Given the description of an element on the screen output the (x, y) to click on. 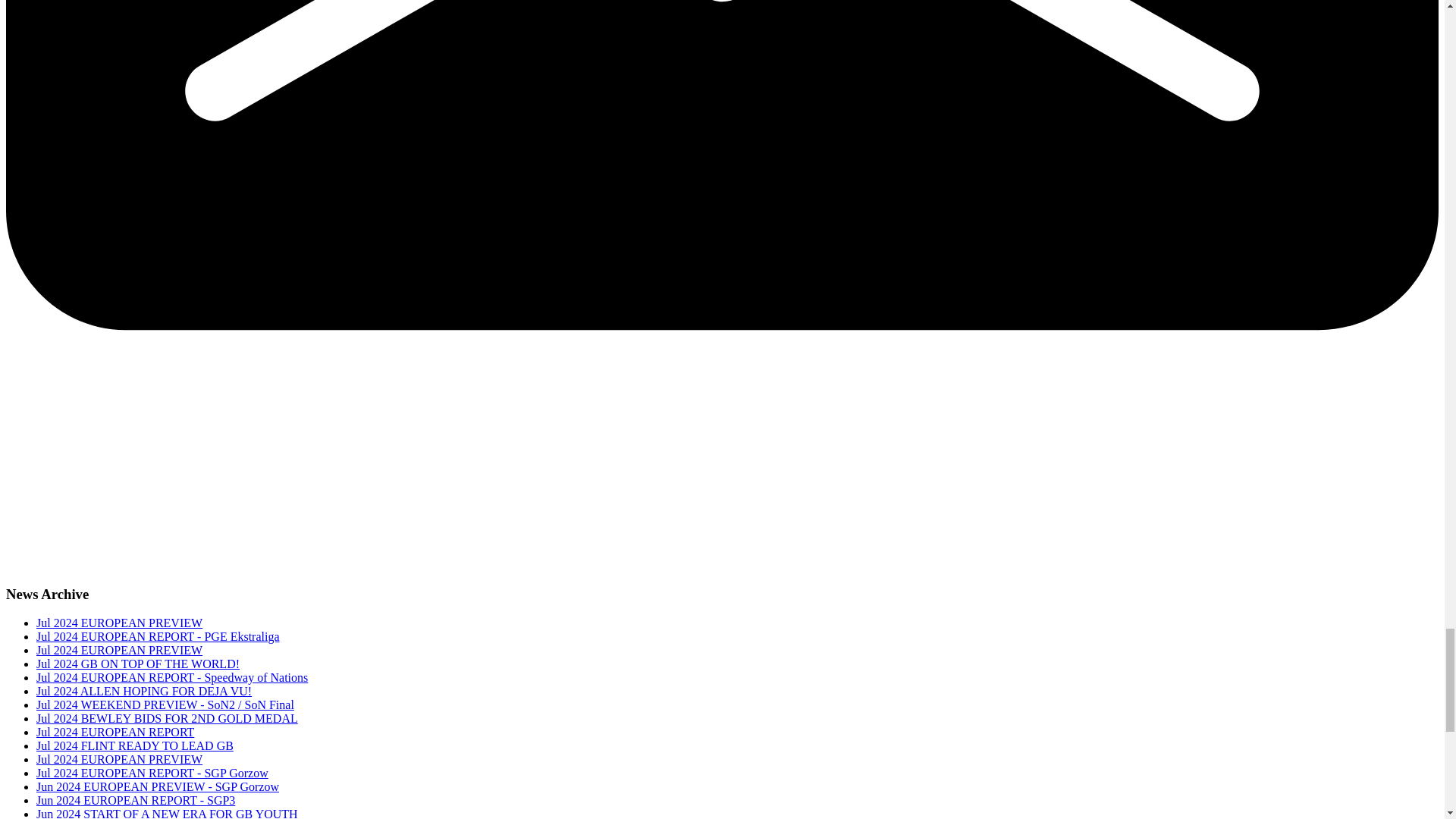
Jul 2024 EUROPEAN PREVIEW (119, 622)
Jun 2024 EUROPEAN PREVIEW - SGP Gorzow (157, 786)
Jul 2024 EUROPEAN REPORT - SGP Gorzow (151, 772)
Jul 2024 BEWLEY BIDS FOR 2ND GOLD MEDAL (167, 717)
Jun 2024 START OF A NEW ERA FOR GB YOUTH (167, 813)
Jul 2024 ALLEN HOPING FOR DEJA VU! (143, 690)
Jul 2024 EUROPEAN REPORT (114, 731)
Jun 2024 EUROPEAN REPORT - SGP3 (135, 799)
Jul 2024 FLINT READY TO LEAD GB (134, 745)
Jul 2024 GB ON TOP OF THE WORLD! (138, 663)
Jul 2024 EUROPEAN REPORT - Speedway of Nations (171, 676)
Jul 2024 EUROPEAN PREVIEW (119, 758)
Jul 2024 EUROPEAN REPORT - PGE Ekstraliga (157, 635)
Jul 2024 EUROPEAN PREVIEW (119, 649)
